Given the description of an element on the screen output the (x, y) to click on. 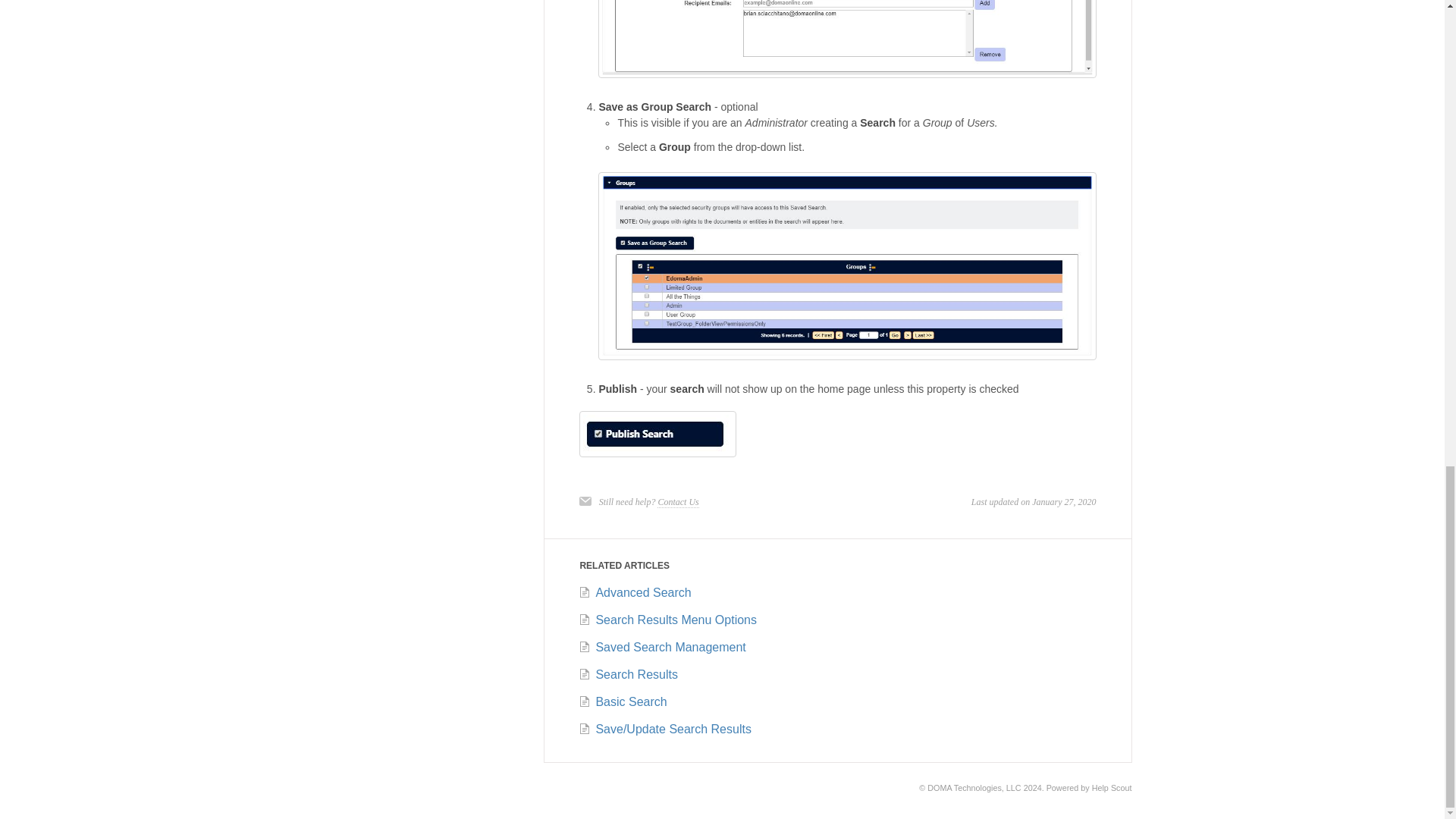
Search Results Menu Options (667, 619)
Contact Us (678, 501)
Advanced Search (634, 592)
Saved Search Management (661, 646)
Search Results (628, 674)
Basic Search (622, 701)
Help Scout (1112, 787)
